Given the description of an element on the screen output the (x, y) to click on. 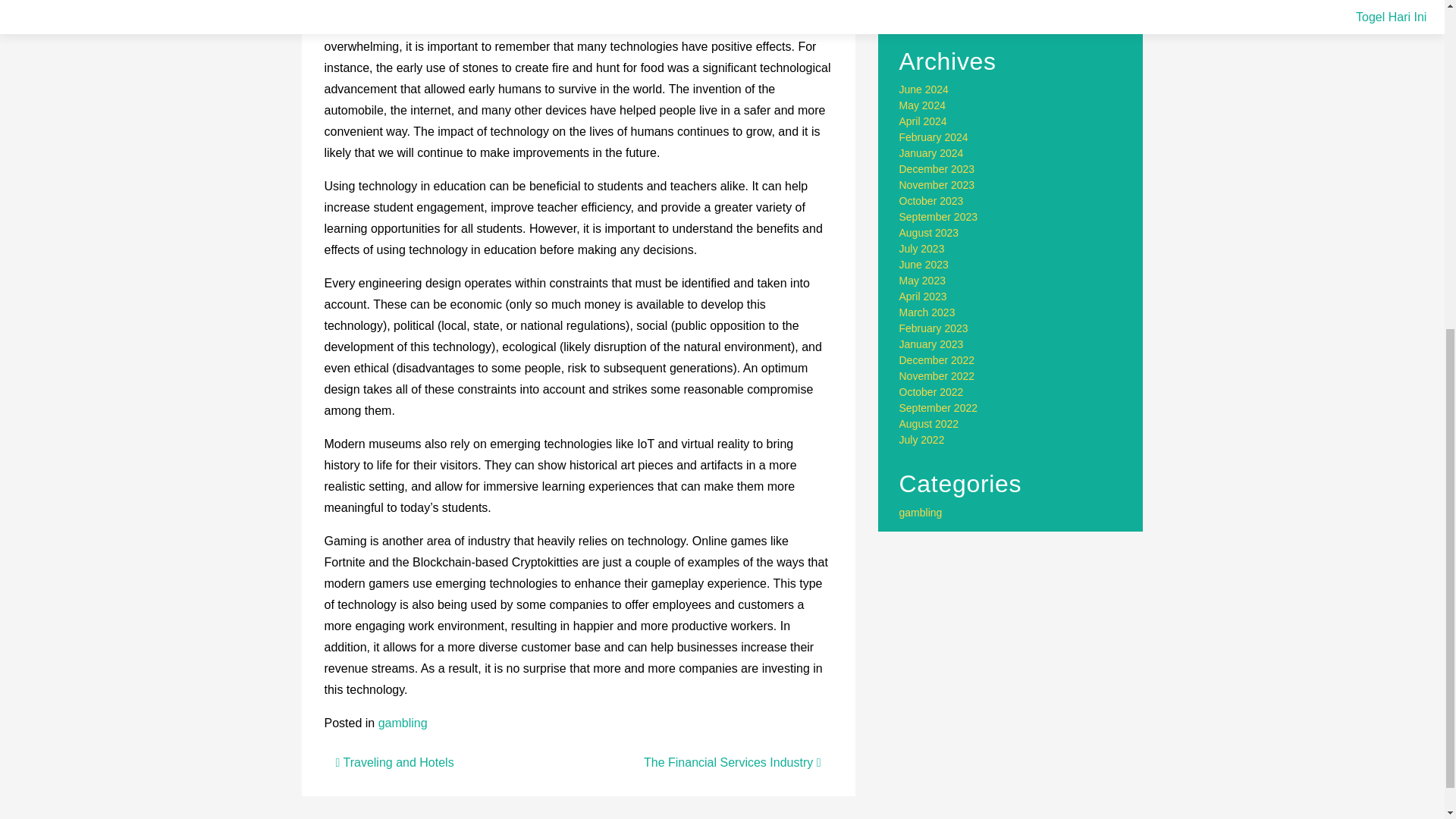
September 2022 (938, 408)
gambling (920, 512)
May 2024 (921, 105)
December 2022 (937, 359)
August 2023 (929, 232)
June 2023 (924, 264)
October 2023 (931, 200)
April 2024 (923, 121)
February 2024 (933, 137)
January 2024 (931, 152)
March 2023 (927, 312)
December 2023 (937, 168)
July 2023 (921, 248)
 Traveling and Hotels (393, 762)
November 2023 (937, 184)
